Given the description of an element on the screen output the (x, y) to click on. 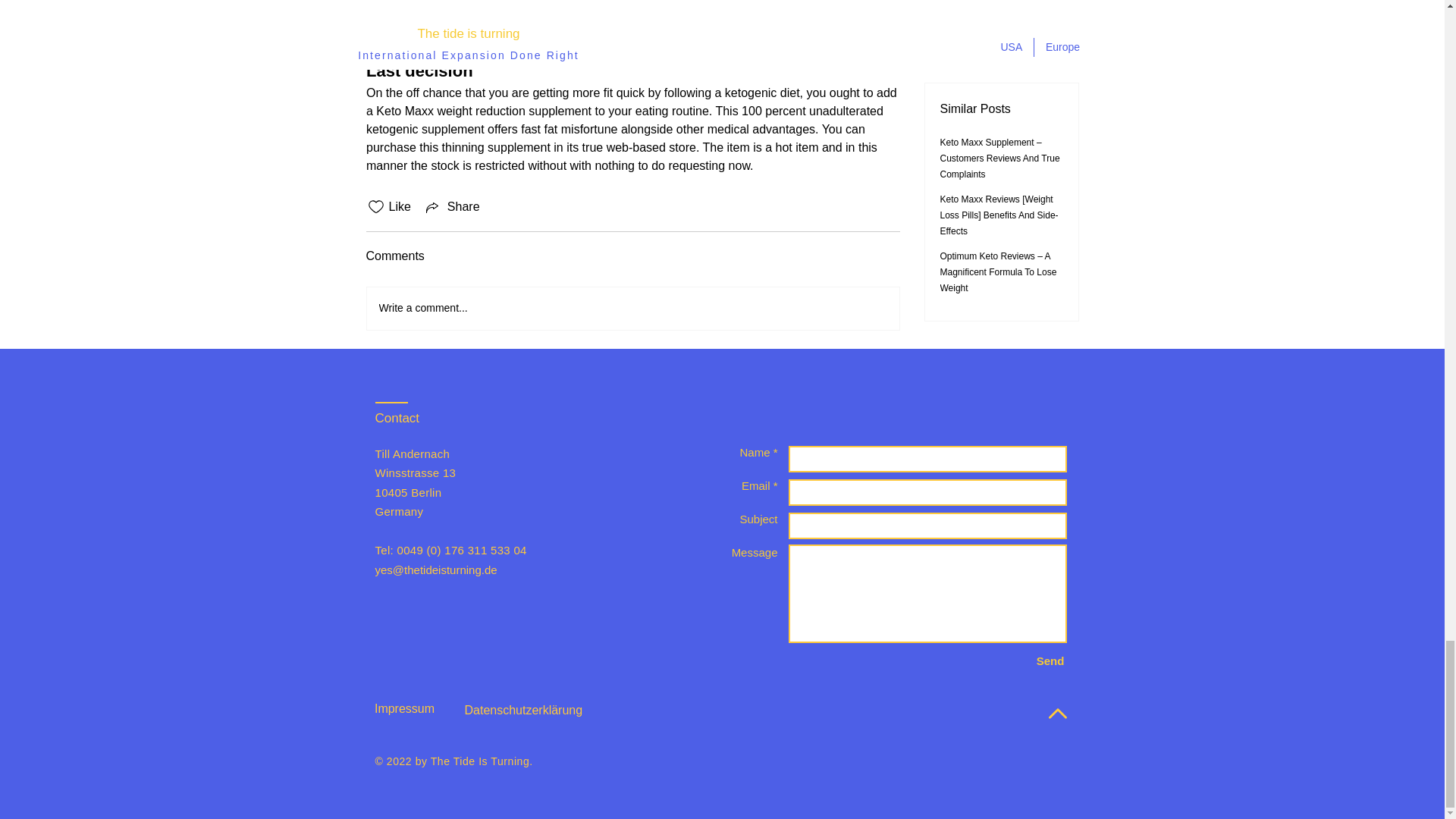
Share (451, 207)
Send (1050, 660)
Impressum (404, 708)
Write a comment... (632, 308)
